Given the description of an element on the screen output the (x, y) to click on. 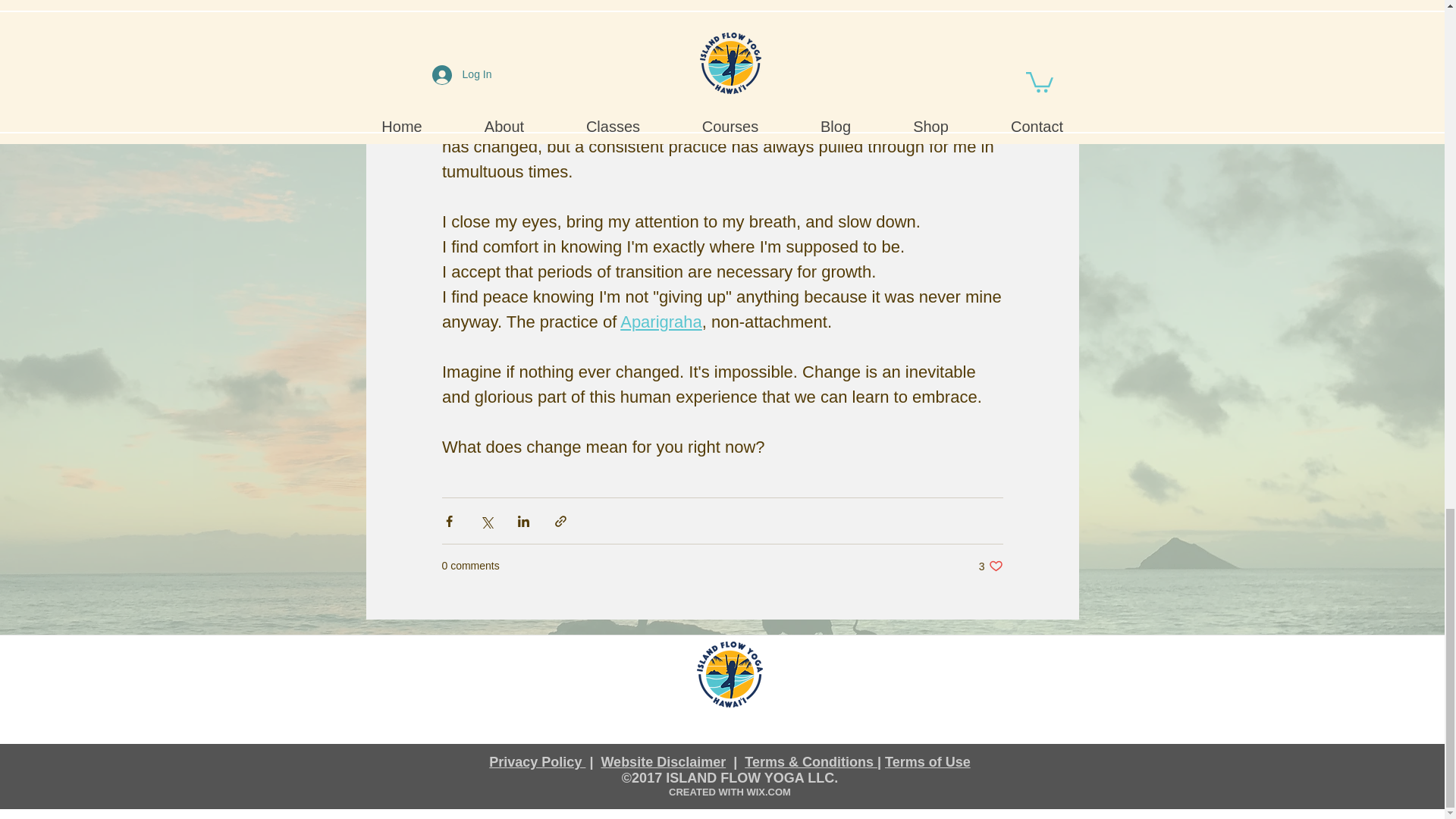
Aparigraha (660, 321)
Terms of Use (928, 761)
Website Disclaimer (662, 761)
Privacy Policy  (537, 761)
